Given the description of an element on the screen output the (x, y) to click on. 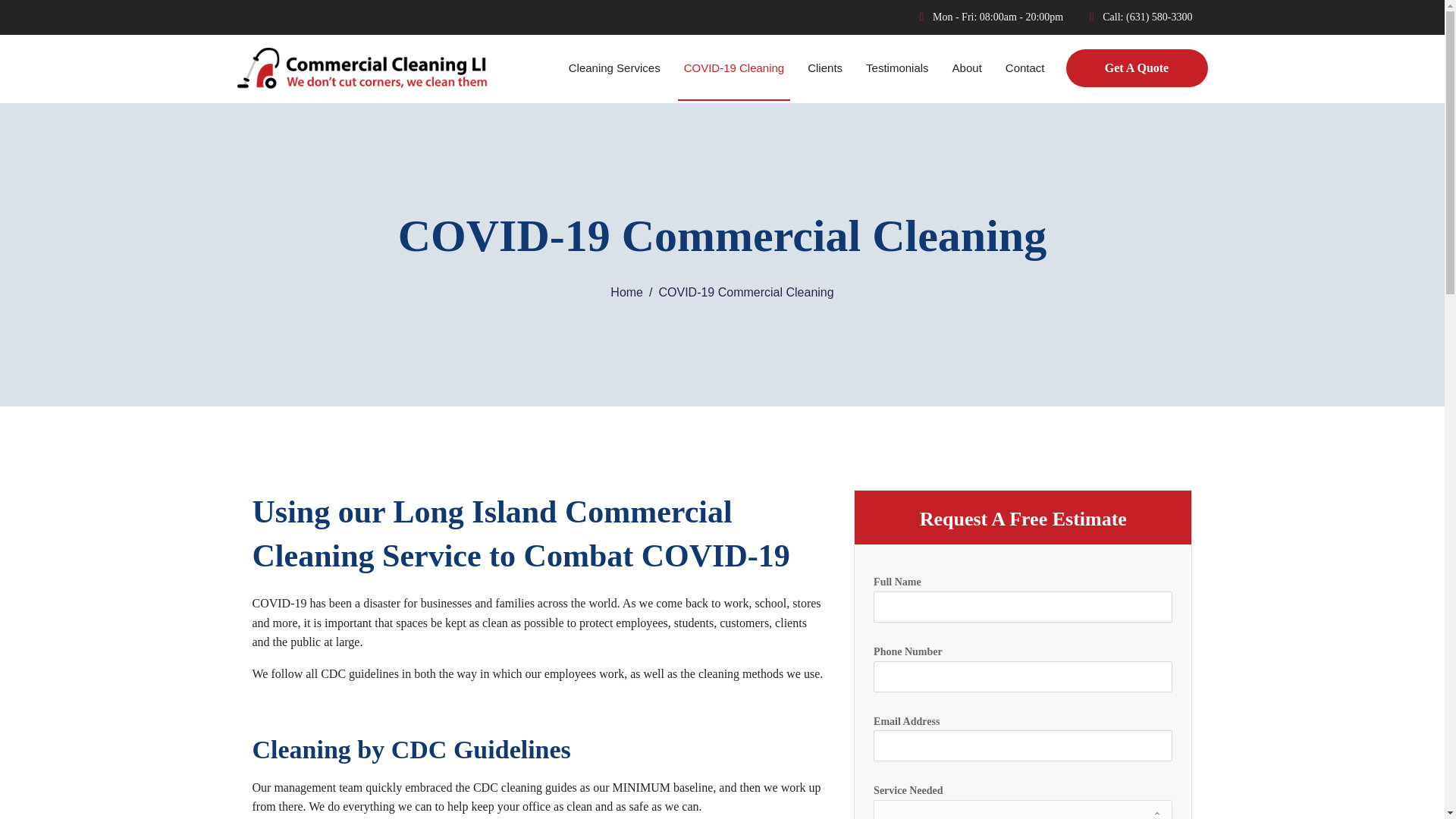
COVID-19 Cleaning (734, 68)
Get A Quote (1136, 67)
Testimonials (897, 68)
Cleaning Services (614, 68)
